Given the description of an element on the screen output the (x, y) to click on. 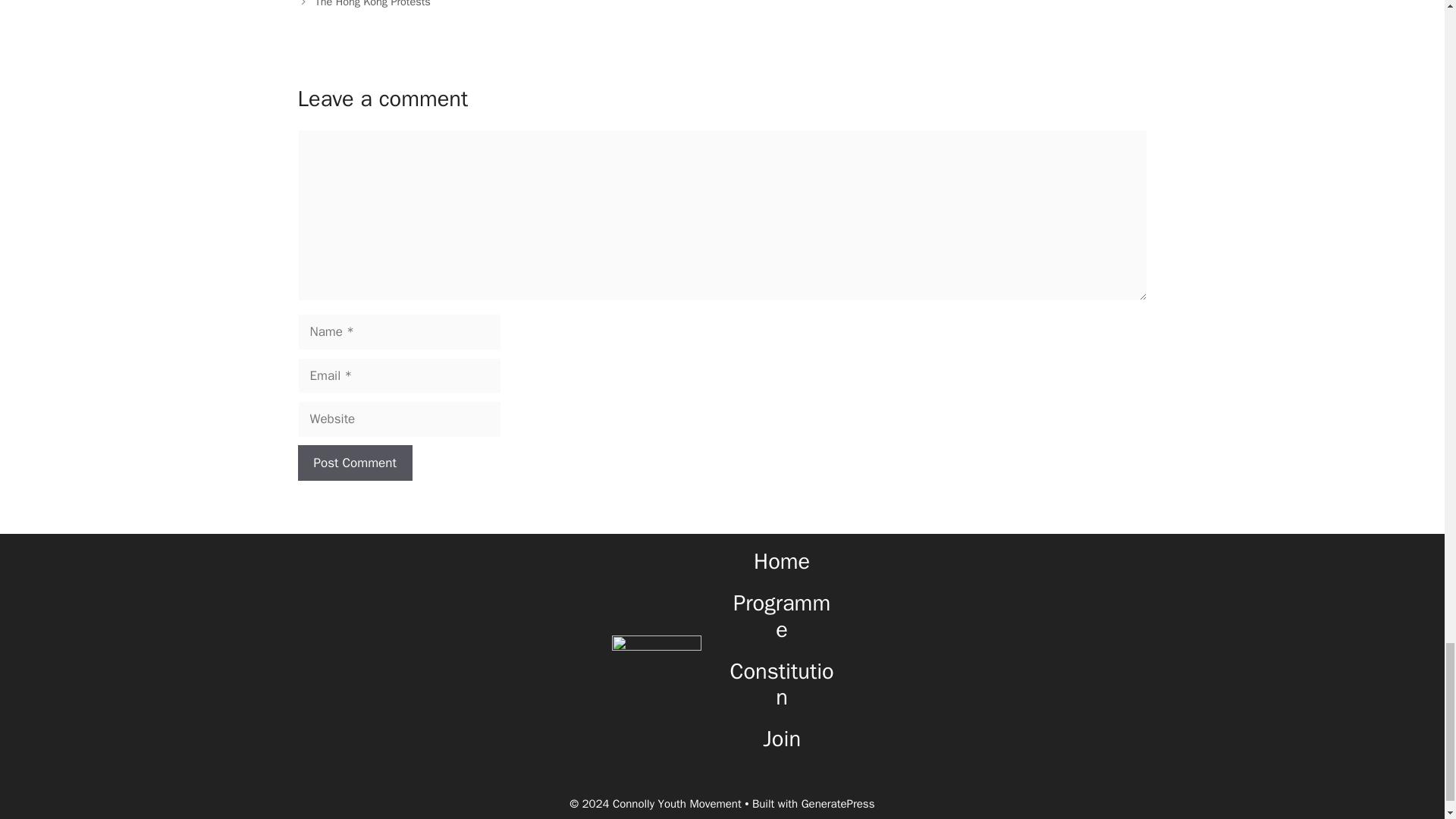
Constitution (782, 684)
Programme (781, 615)
Home (781, 561)
Post Comment (354, 463)
Join (781, 738)
GeneratePress (838, 803)
The Hong Kong Protests (372, 4)
Post Comment (354, 463)
